Given the description of an element on the screen output the (x, y) to click on. 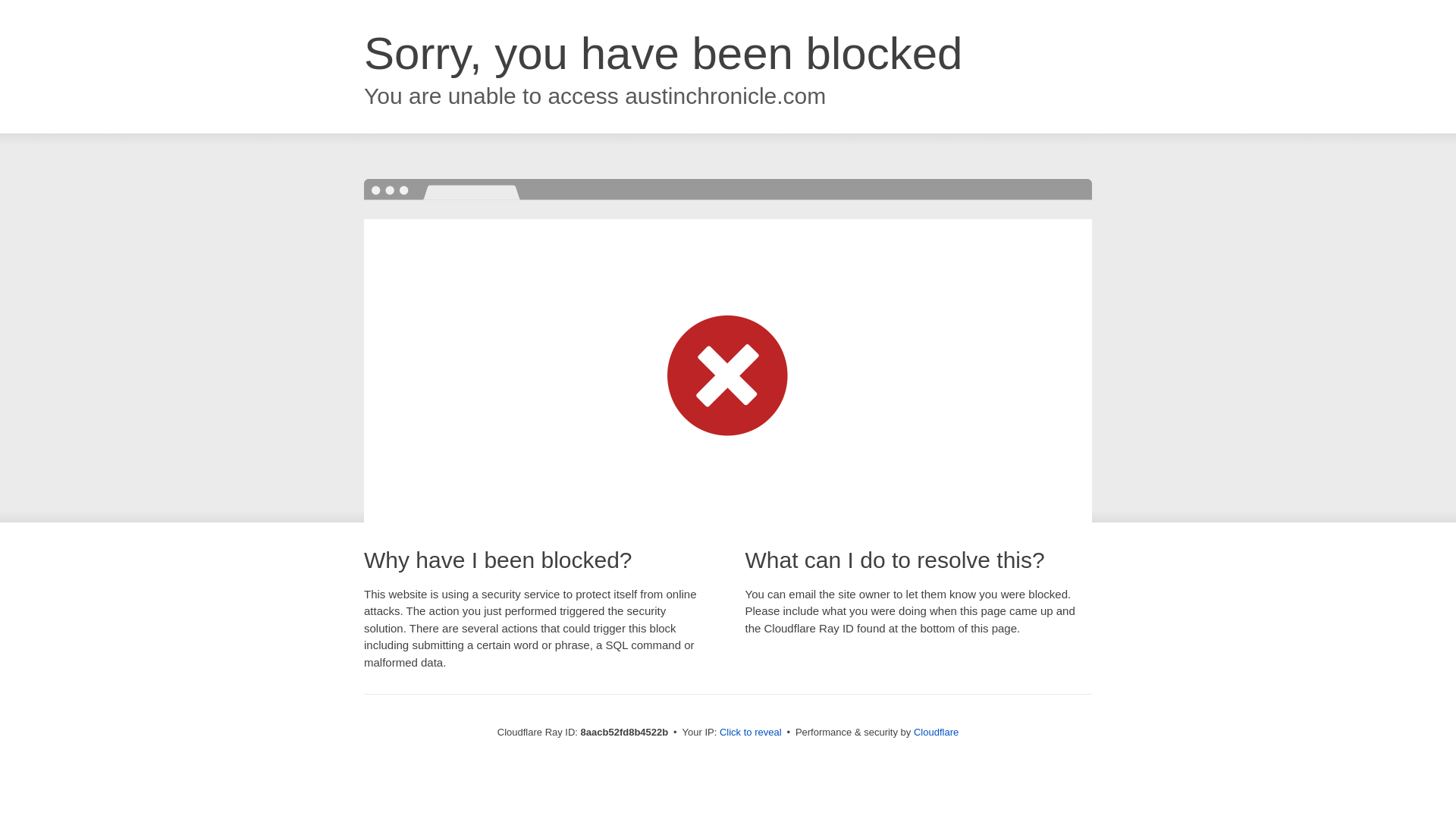
Cloudflare (936, 731)
Click to reveal (750, 732)
